Given the description of an element on the screen output the (x, y) to click on. 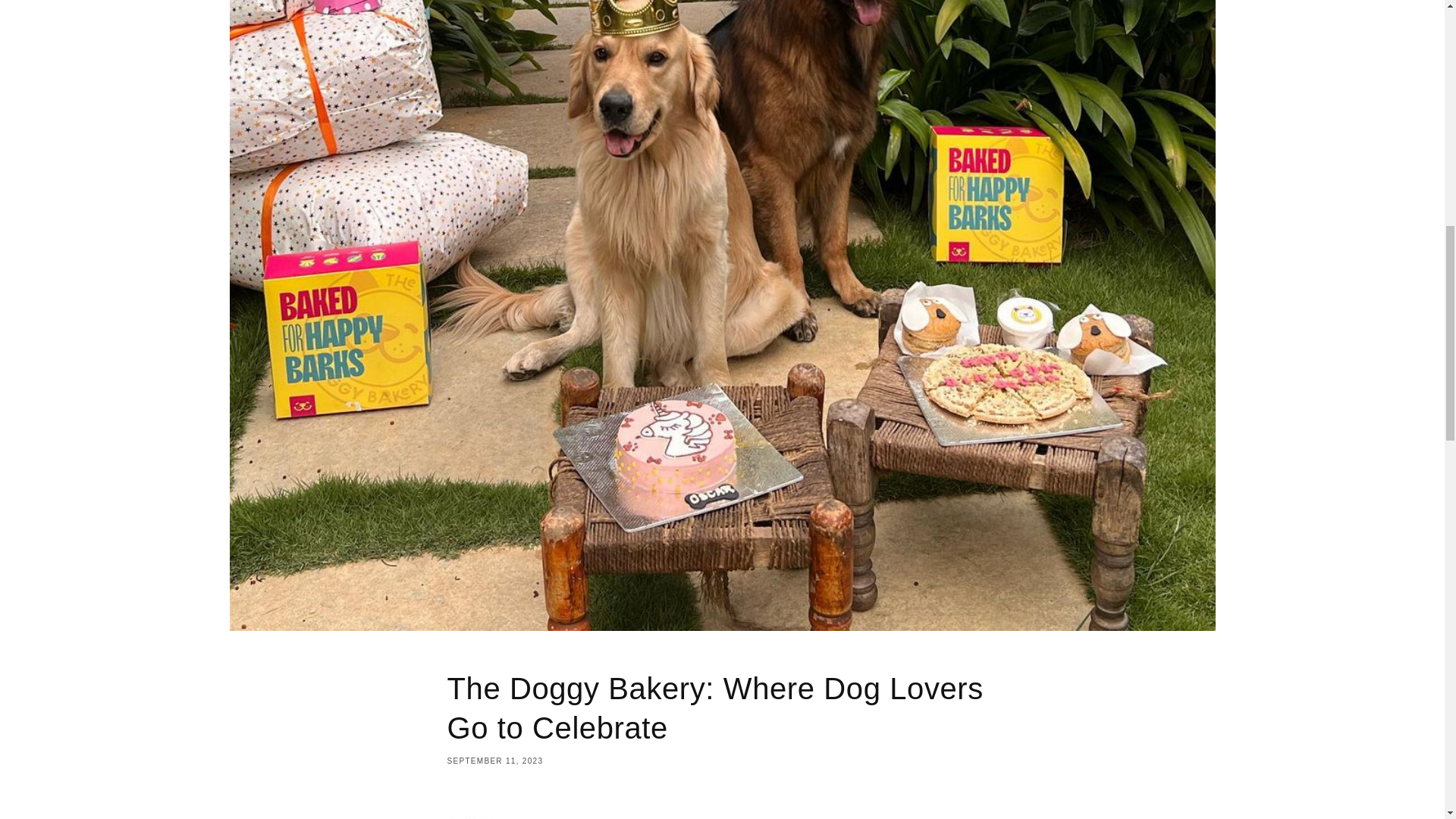
Share (721, 811)
